Given the description of an element on the screen output the (x, y) to click on. 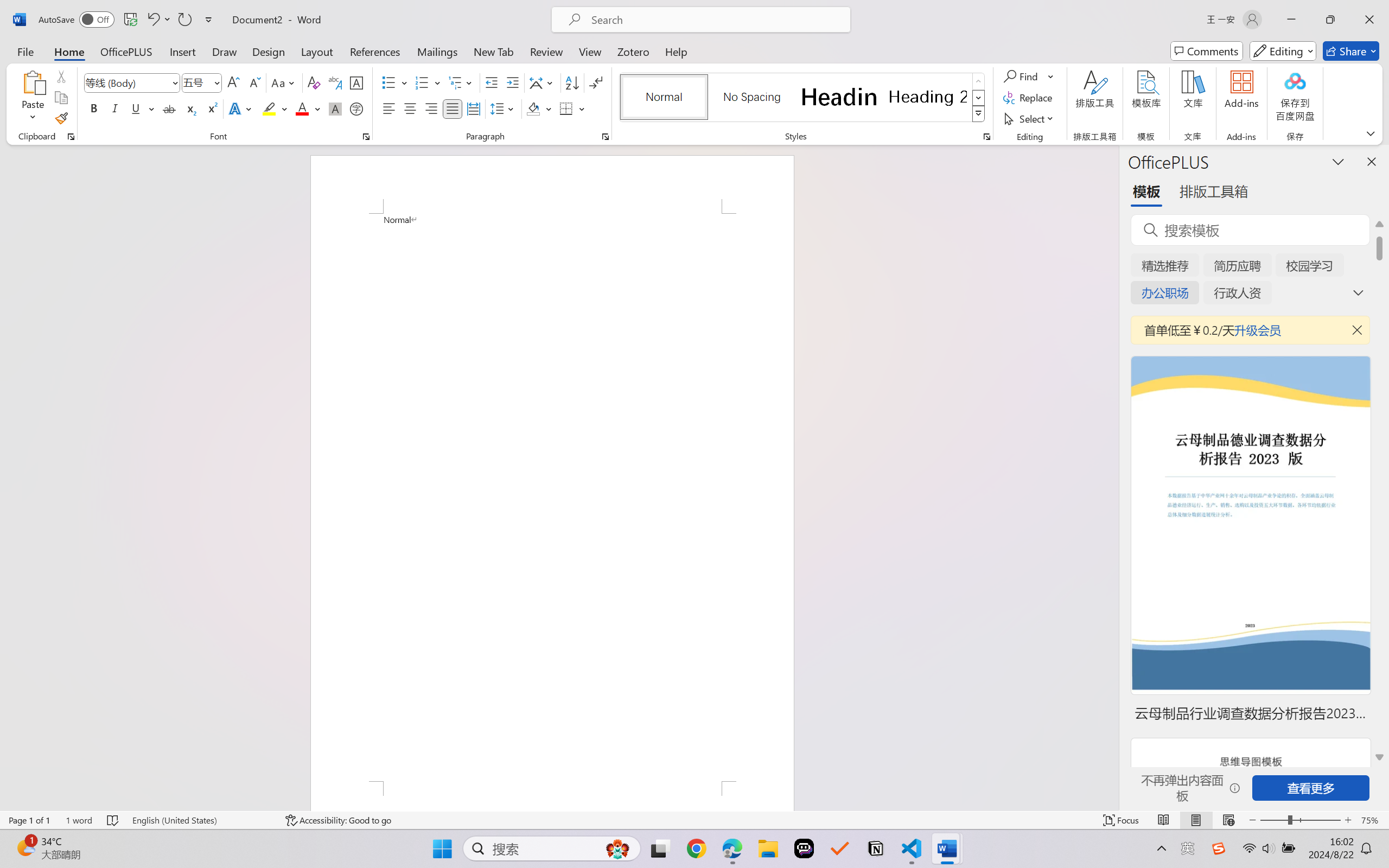
Paragraph... (605, 136)
OfficePLUS (126, 51)
Superscript (210, 108)
Phonetic Guide... (334, 82)
Font Size (201, 82)
Copy (60, 97)
Align Left (388, 108)
Justify (452, 108)
Draw (224, 51)
AutoSave (76, 19)
Line and Paragraph Spacing (503, 108)
Undo Apply Quick Style (152, 19)
Bullets (395, 82)
